Given the description of an element on the screen output the (x, y) to click on. 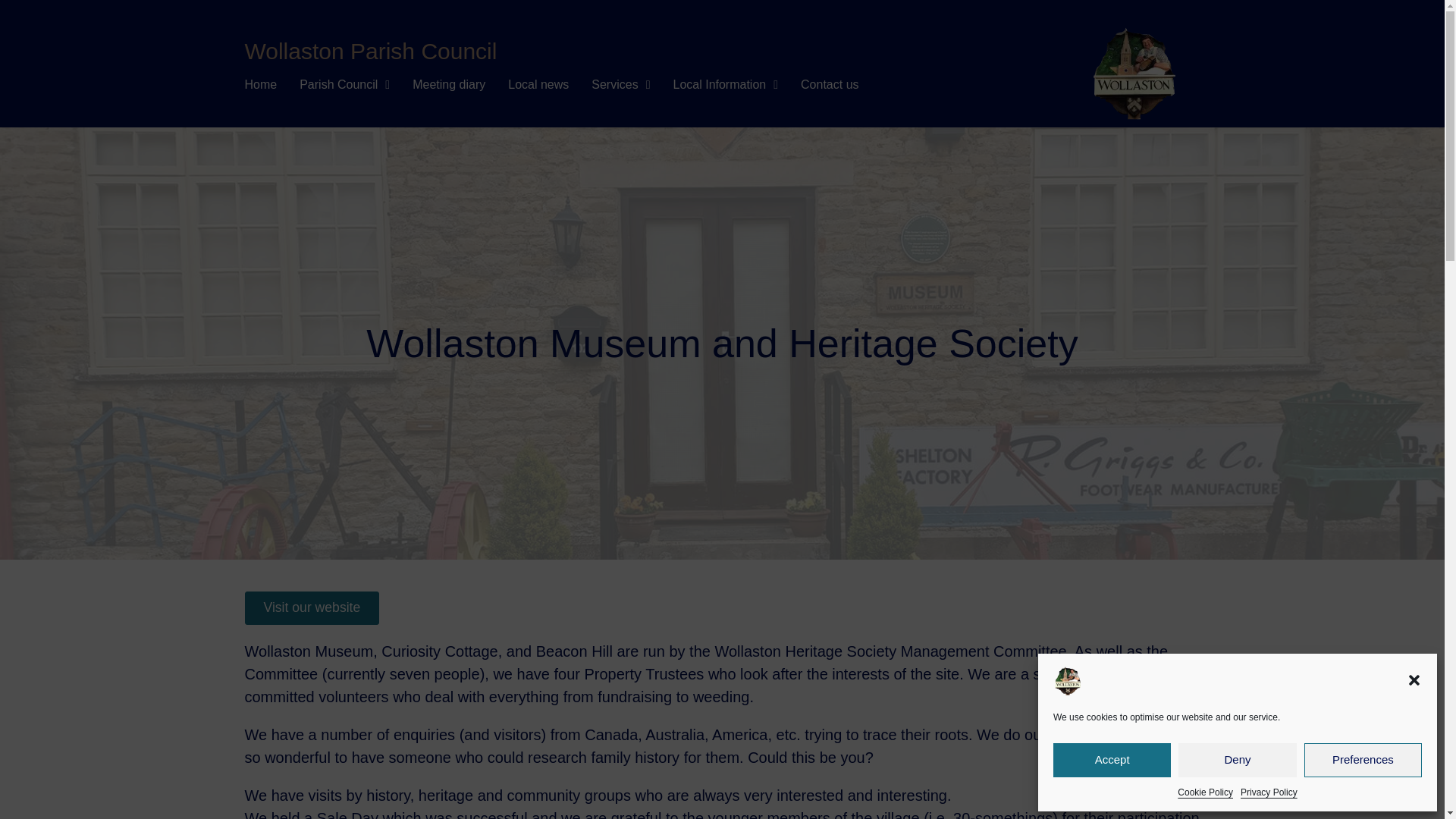
Deny (1236, 759)
Services (620, 84)
Preferences (1363, 759)
Parish Council (344, 84)
Cookie Policy (1205, 792)
Local Information (724, 84)
Privacy Policy (1268, 792)
Home (260, 84)
Local news (538, 84)
Accept (1111, 759)
Meeting diary (448, 84)
